Given the description of an element on the screen output the (x, y) to click on. 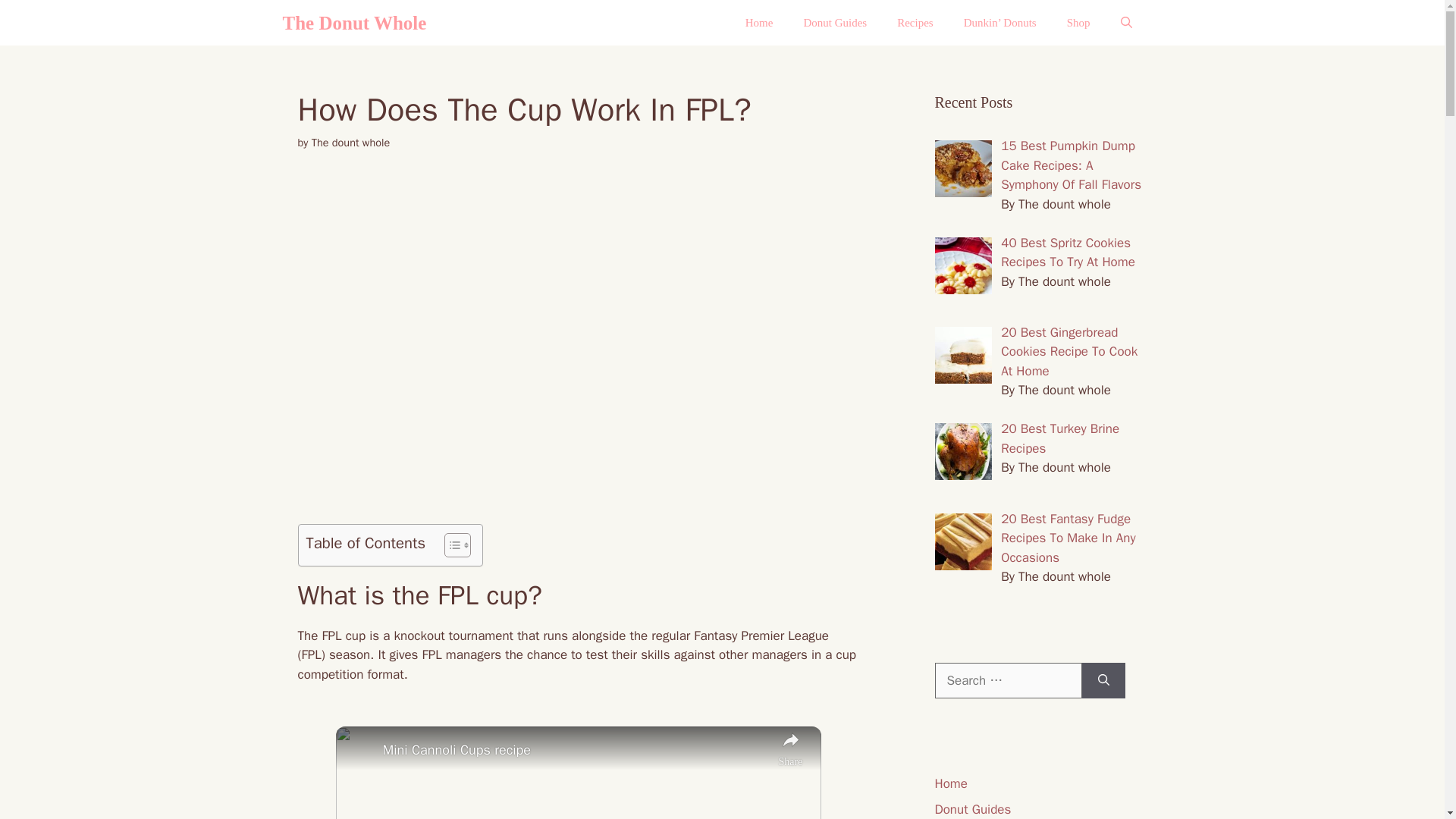
Donut Guides (834, 22)
Shop (1078, 22)
Home (759, 22)
Recipes (914, 22)
The dount whole (350, 142)
View all posts by The dount whole (350, 142)
The Donut Whole (354, 22)
